Given the description of an element on the screen output the (x, y) to click on. 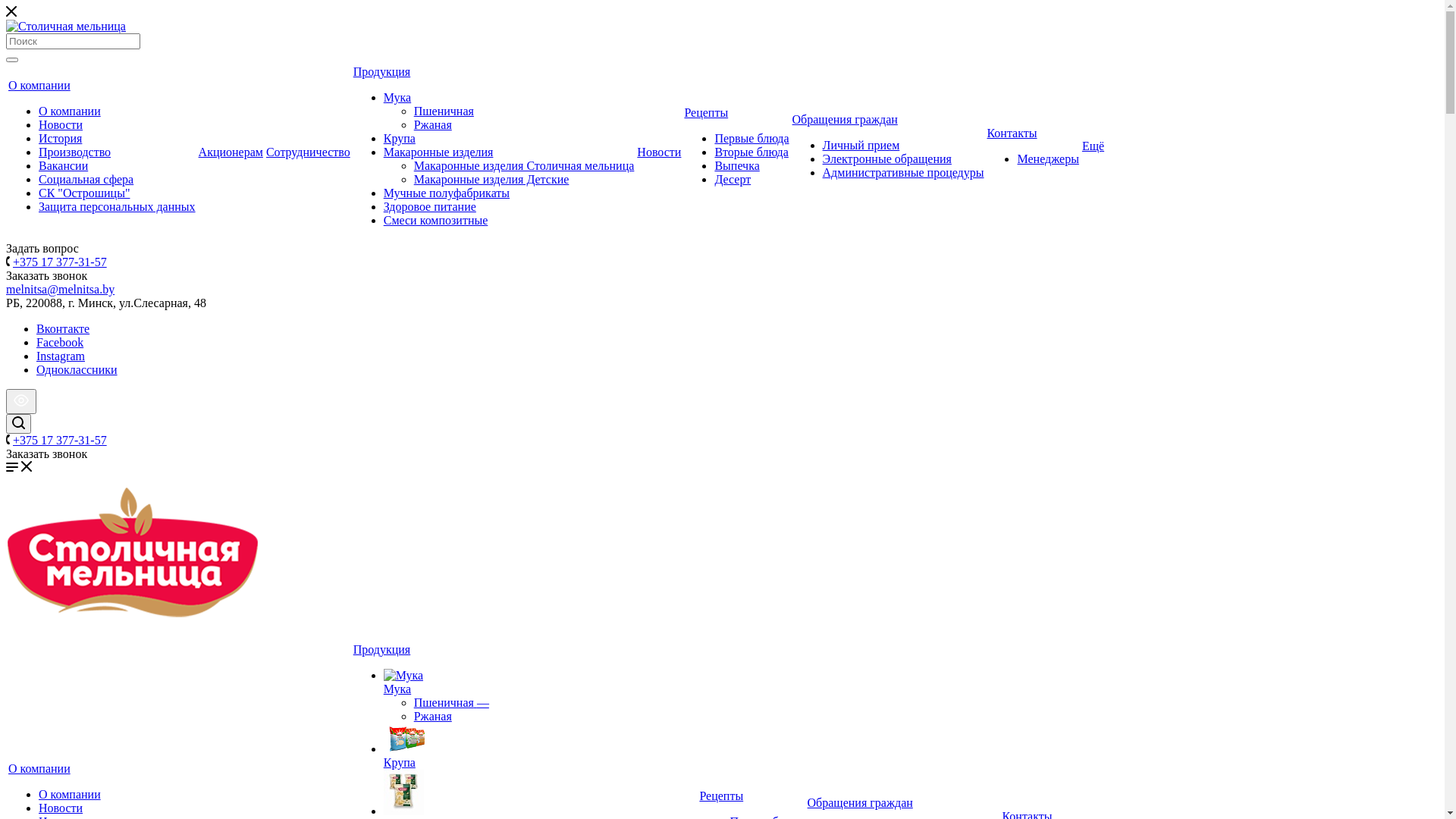
+375 17 377-31-57 Element type: text (59, 439)
+375 17 377-31-57 Element type: text (59, 261)
Facebook Element type: text (59, 341)
melnitsa@melnitsa.by Element type: text (60, 288)
Instagram Element type: text (60, 355)
